Given the description of an element on the screen output the (x, y) to click on. 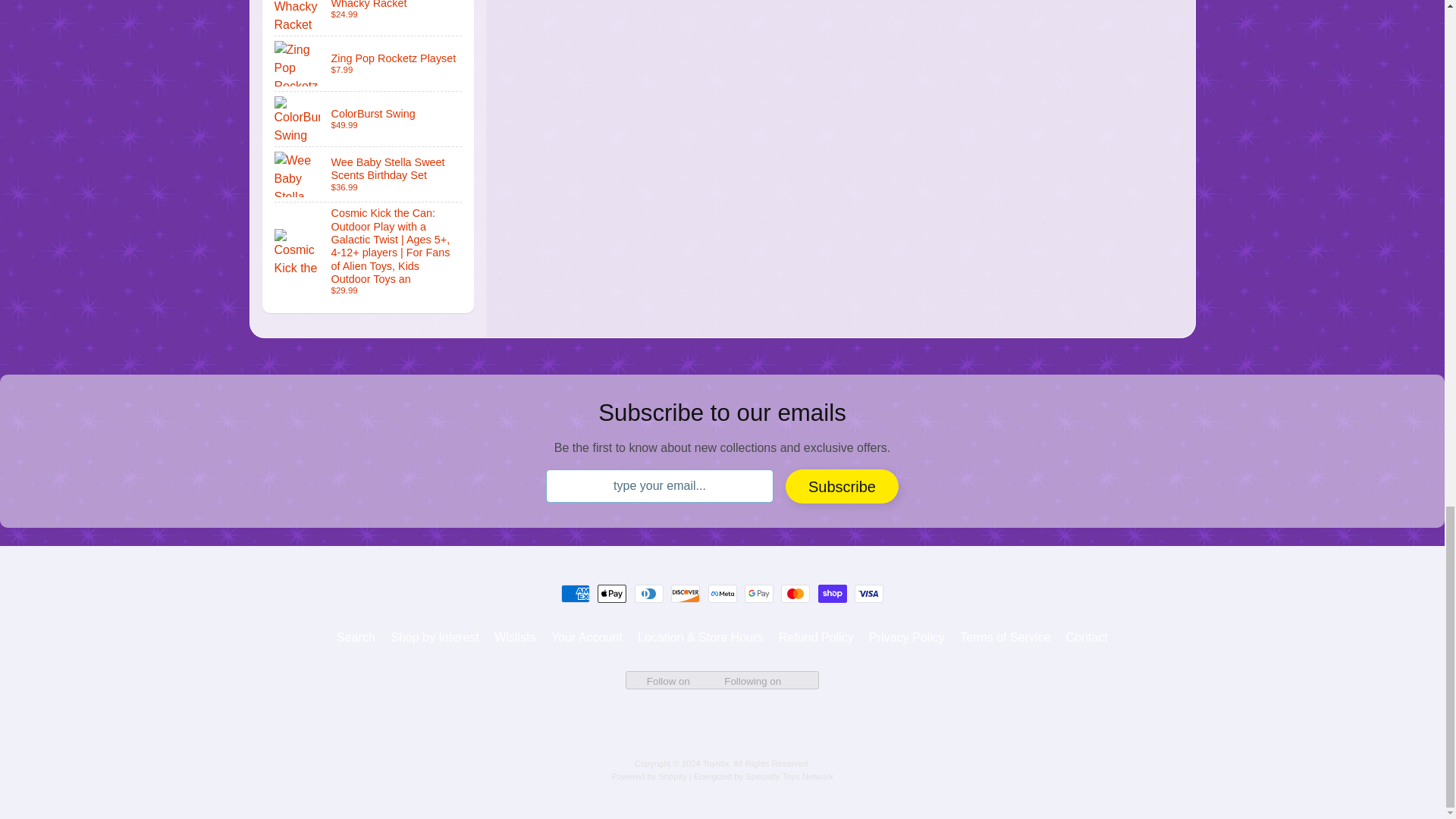
Apple Pay (611, 593)
Mastercard (794, 593)
Wee Baby Stella Sweet Scents Birthday Set (369, 174)
Shop Pay (832, 593)
Google Pay (758, 593)
Discover (685, 593)
Zing Pop Rocketz Playset (369, 63)
Diners Club (648, 593)
Meta Pay (721, 593)
Visa (868, 593)
American Express (574, 593)
Whacky Racket (369, 18)
ColorBurst Swing (369, 118)
